Given the description of an element on the screen output the (x, y) to click on. 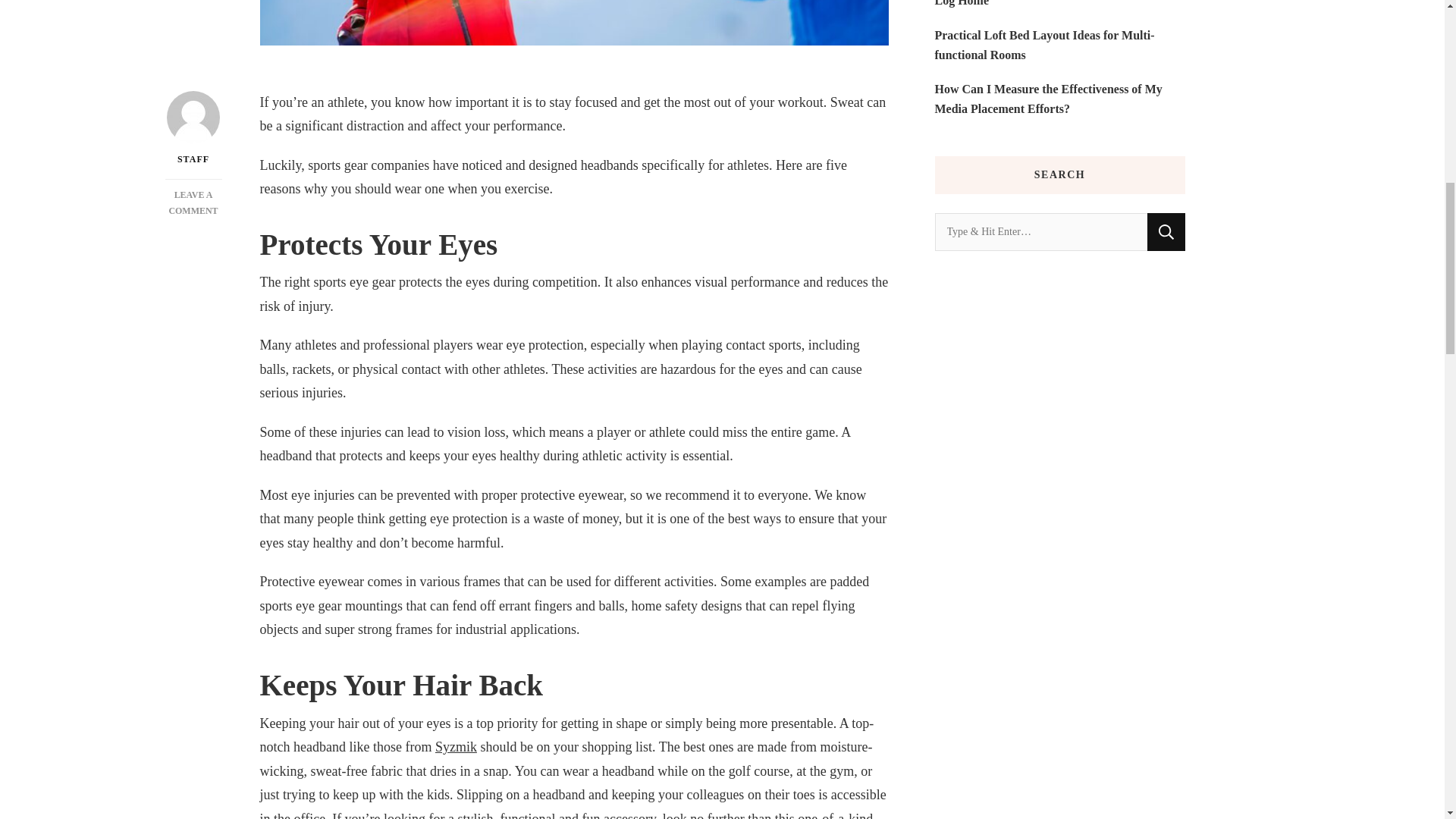
Search (1166, 231)
Syzmik (456, 746)
Search (1166, 231)
